Given the description of an element on the screen output the (x, y) to click on. 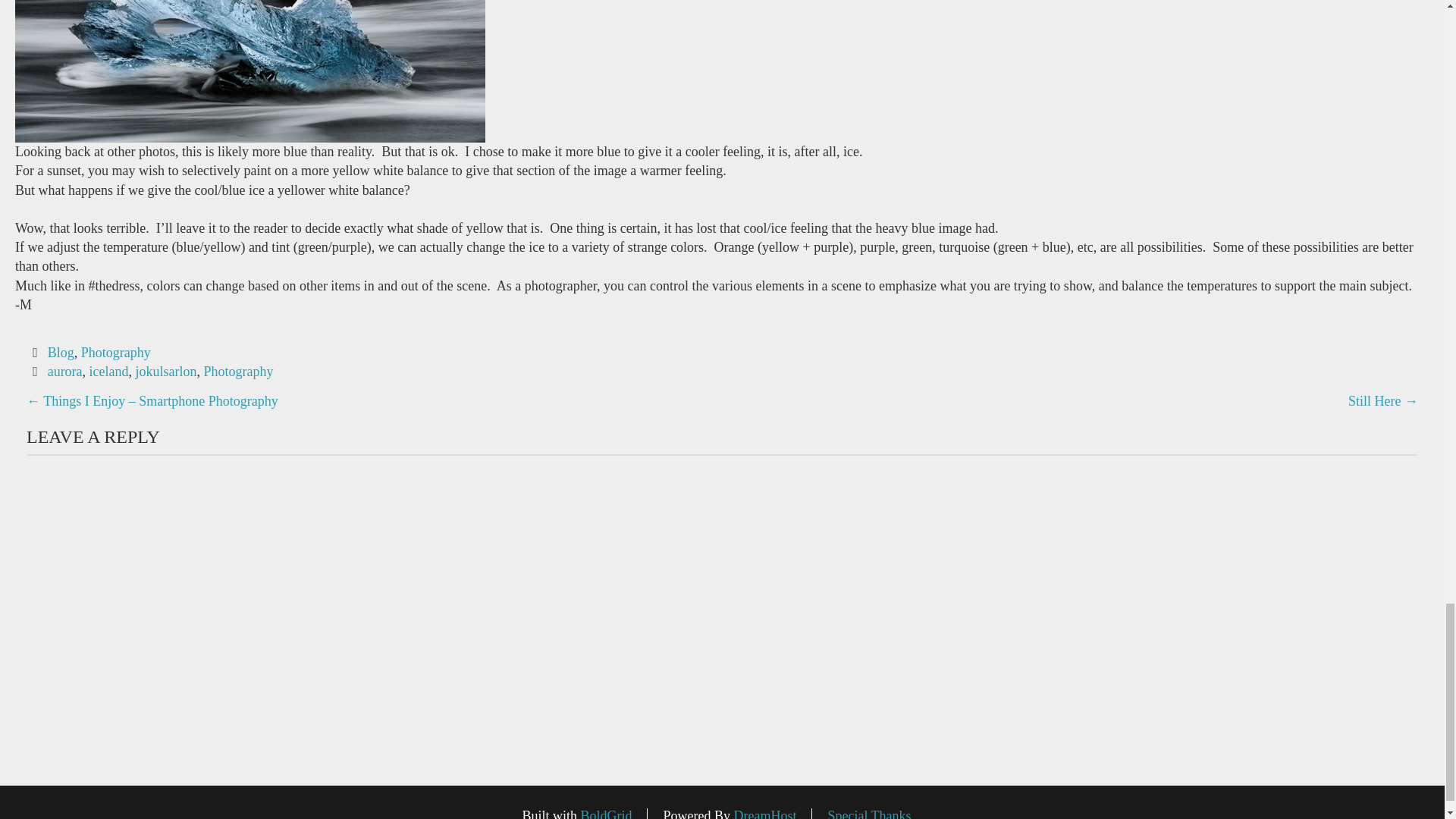
iceland (108, 371)
Photography (238, 371)
jokulsarlon (165, 371)
aurora (65, 371)
DreamHost (764, 813)
Special Thanks (869, 813)
Photography (116, 352)
Blog (61, 352)
BoldGrid (605, 813)
